Given the description of an element on the screen output the (x, y) to click on. 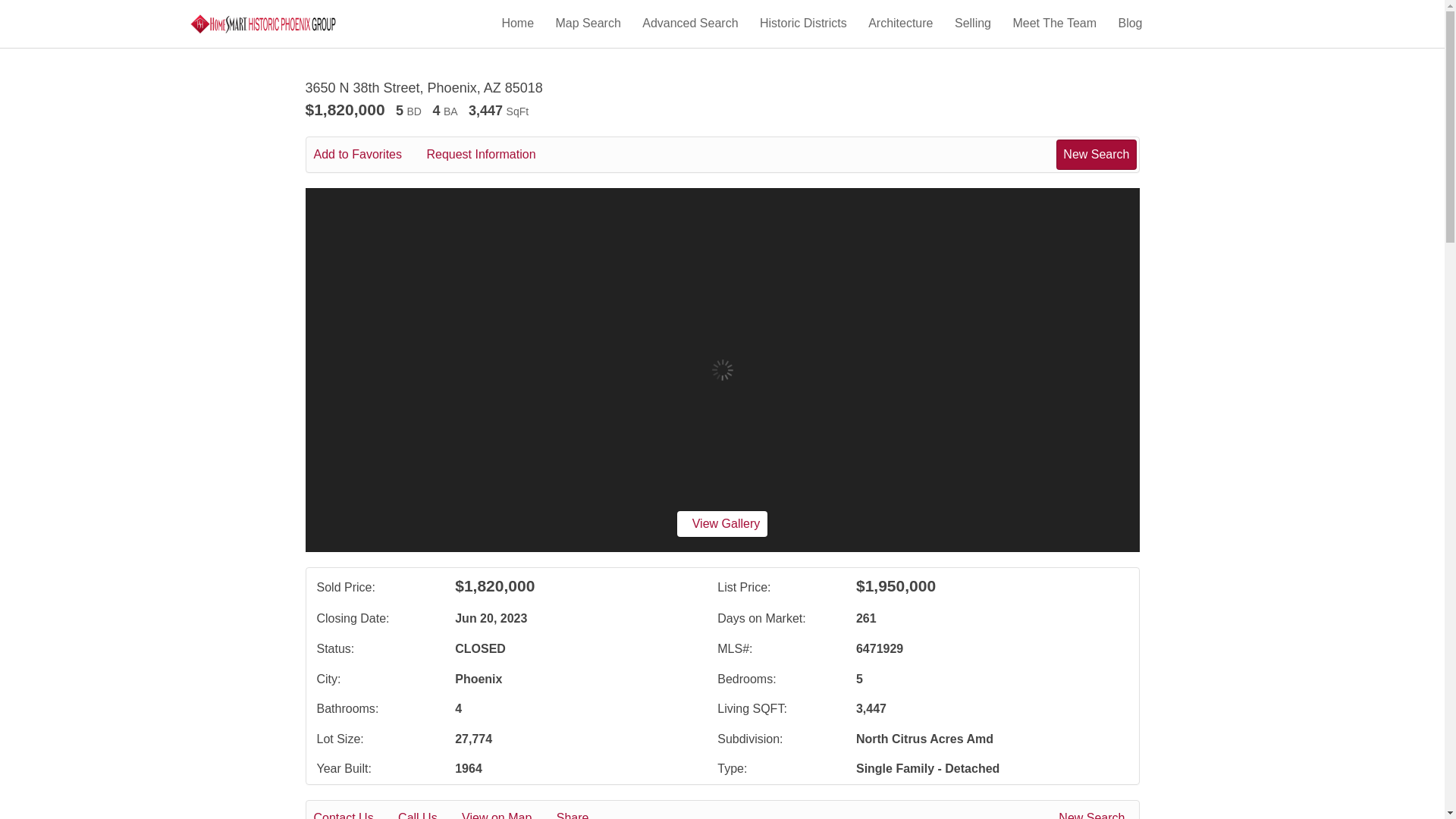
Blog (1129, 22)
View Gallery (722, 522)
Map Search (588, 22)
Request Information (491, 154)
New Search (1094, 812)
Selling (973, 22)
Advanced Search (690, 22)
Add to Favorites (368, 154)
Contact Us (354, 812)
Architecture (900, 22)
View Gallery (722, 524)
Call Us (427, 812)
Share (583, 812)
New Search (1096, 154)
Meet The Team (1053, 22)
